Given the description of an element on the screen output the (x, y) to click on. 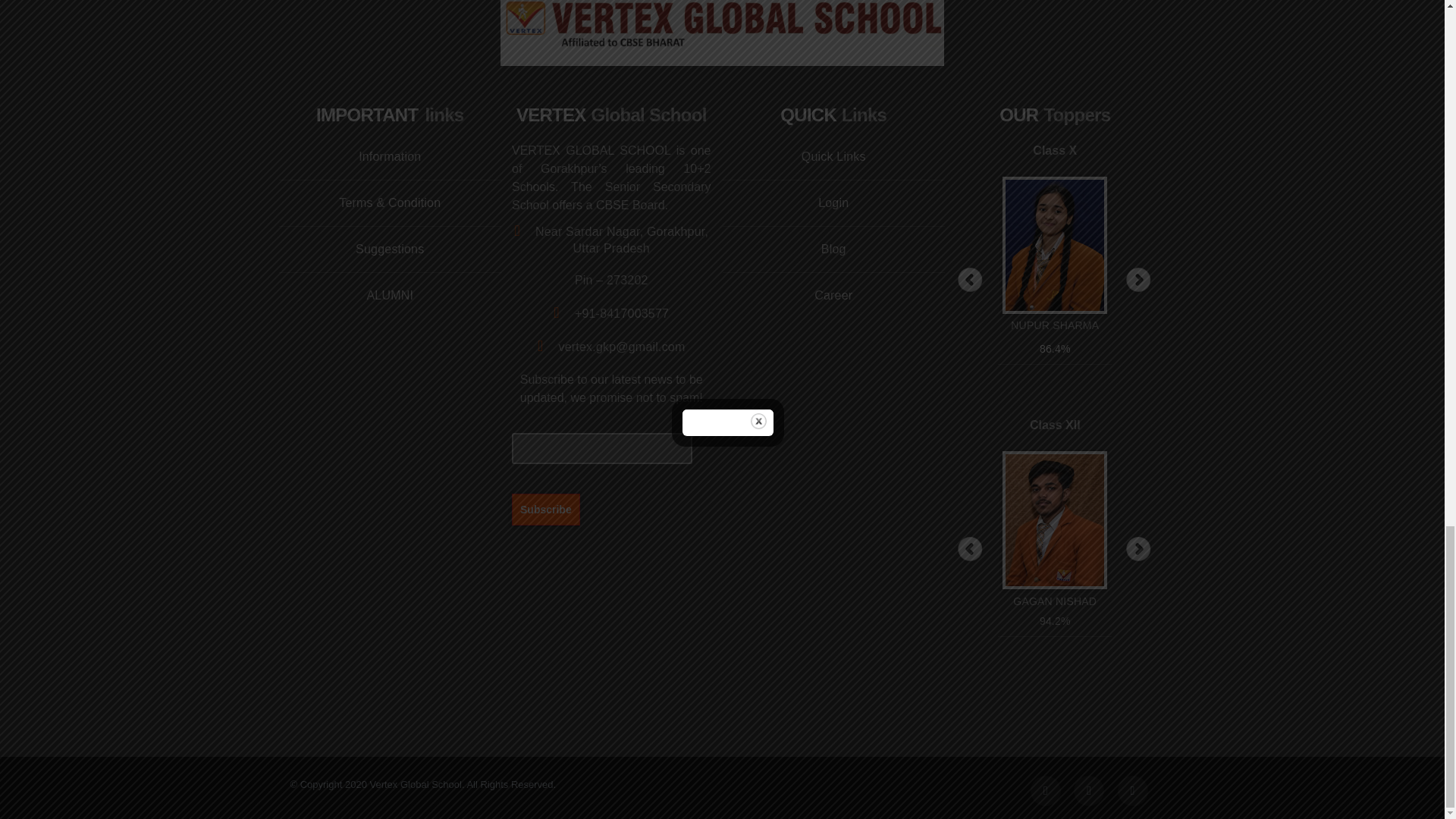
Subscribe (545, 508)
